Given the description of an element on the screen output the (x, y) to click on. 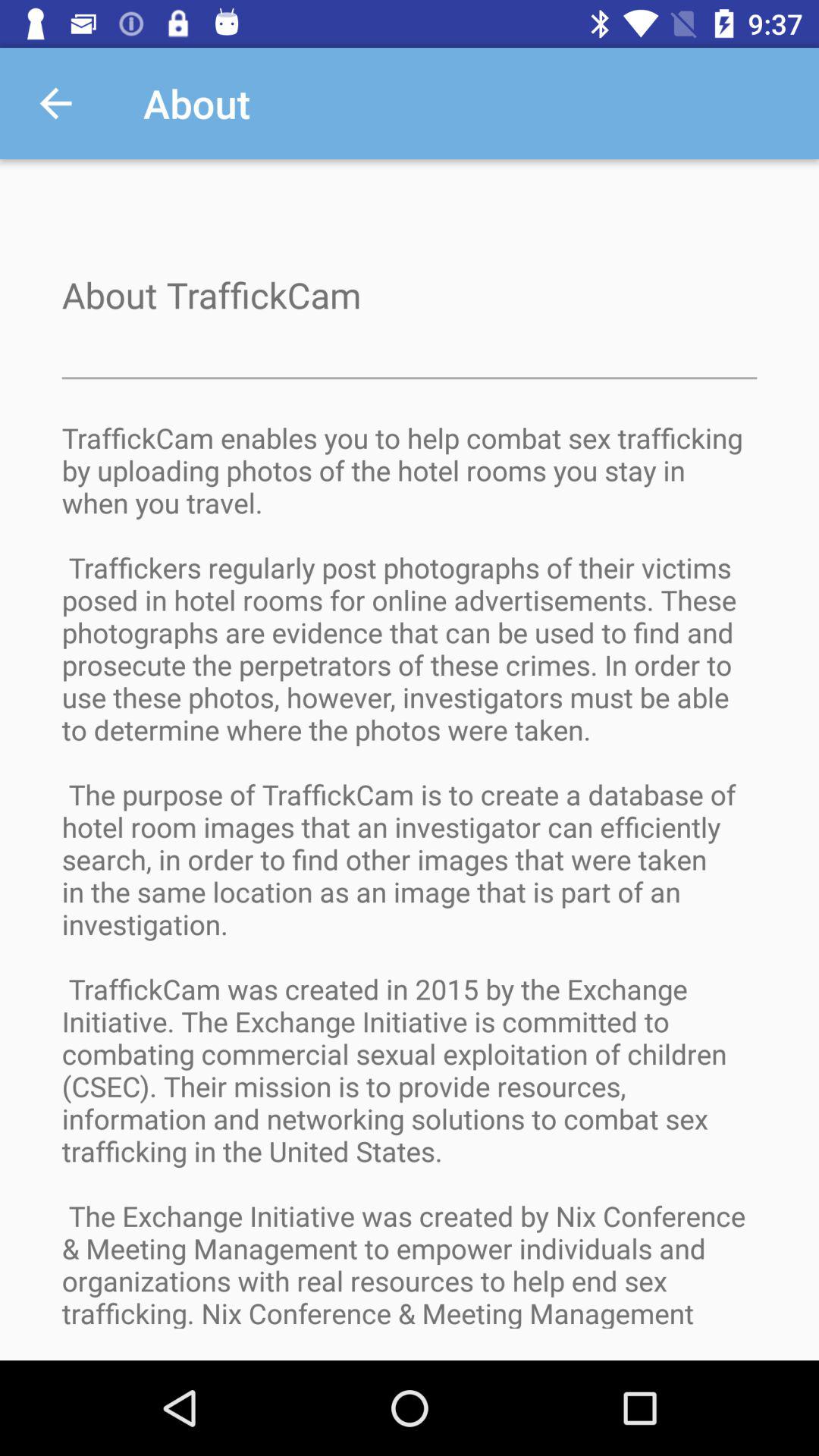
flip to traffickcam enables you icon (409, 889)
